Given the description of an element on the screen output the (x, y) to click on. 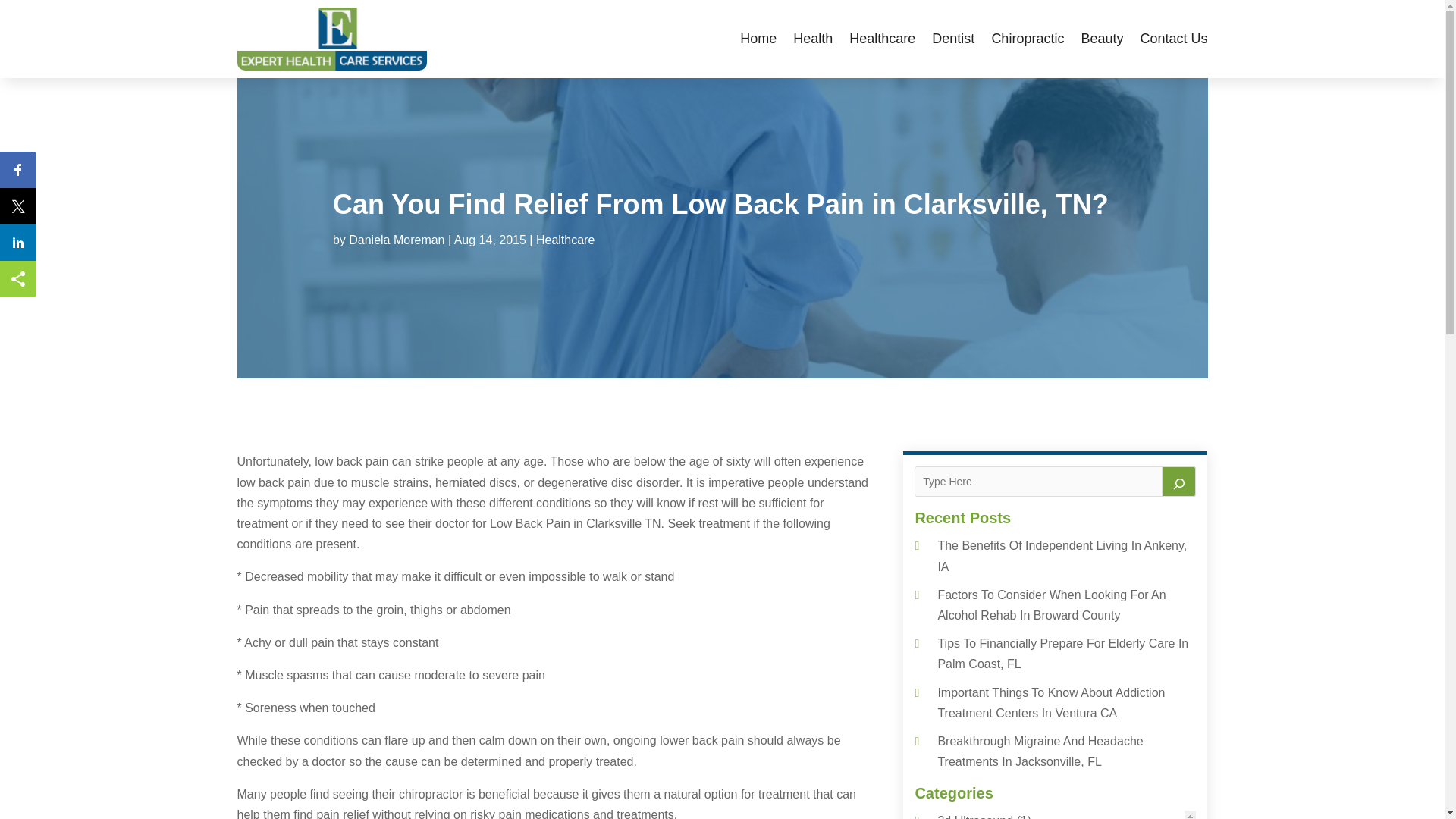
Daniela Moreman (396, 239)
Healthcare (881, 38)
3d Ultrasound (975, 816)
Posts by Daniela Moreman (396, 239)
Healthcare (564, 239)
Chiropractic (1027, 38)
The Benefits Of Independent Living In Ankeny, IA (1061, 555)
Contact Us (1173, 38)
